Given the description of an element on the screen output the (x, y) to click on. 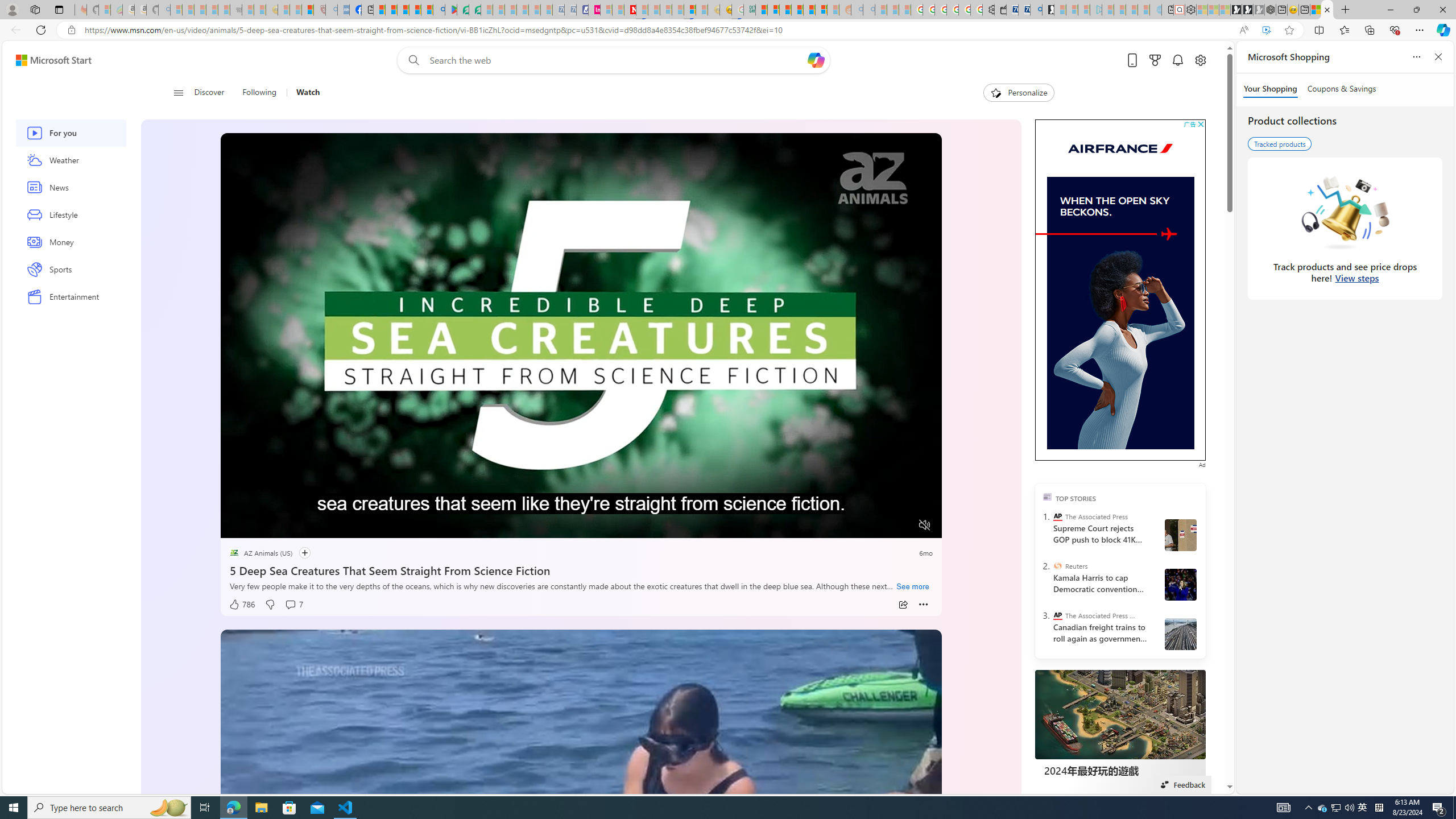
Combat Siege (236, 9)
Class: button-glyph (178, 92)
Skip to footer (46, 59)
Microsoft-Report a Concern to Bing - Sleeping (104, 9)
Cheap Car Rentals - Save70.com - Sleeping (558, 9)
Class: at-item inline-watch (923, 604)
Recipes - MSN - Sleeping (283, 9)
